Given the description of an element on the screen output the (x, y) to click on. 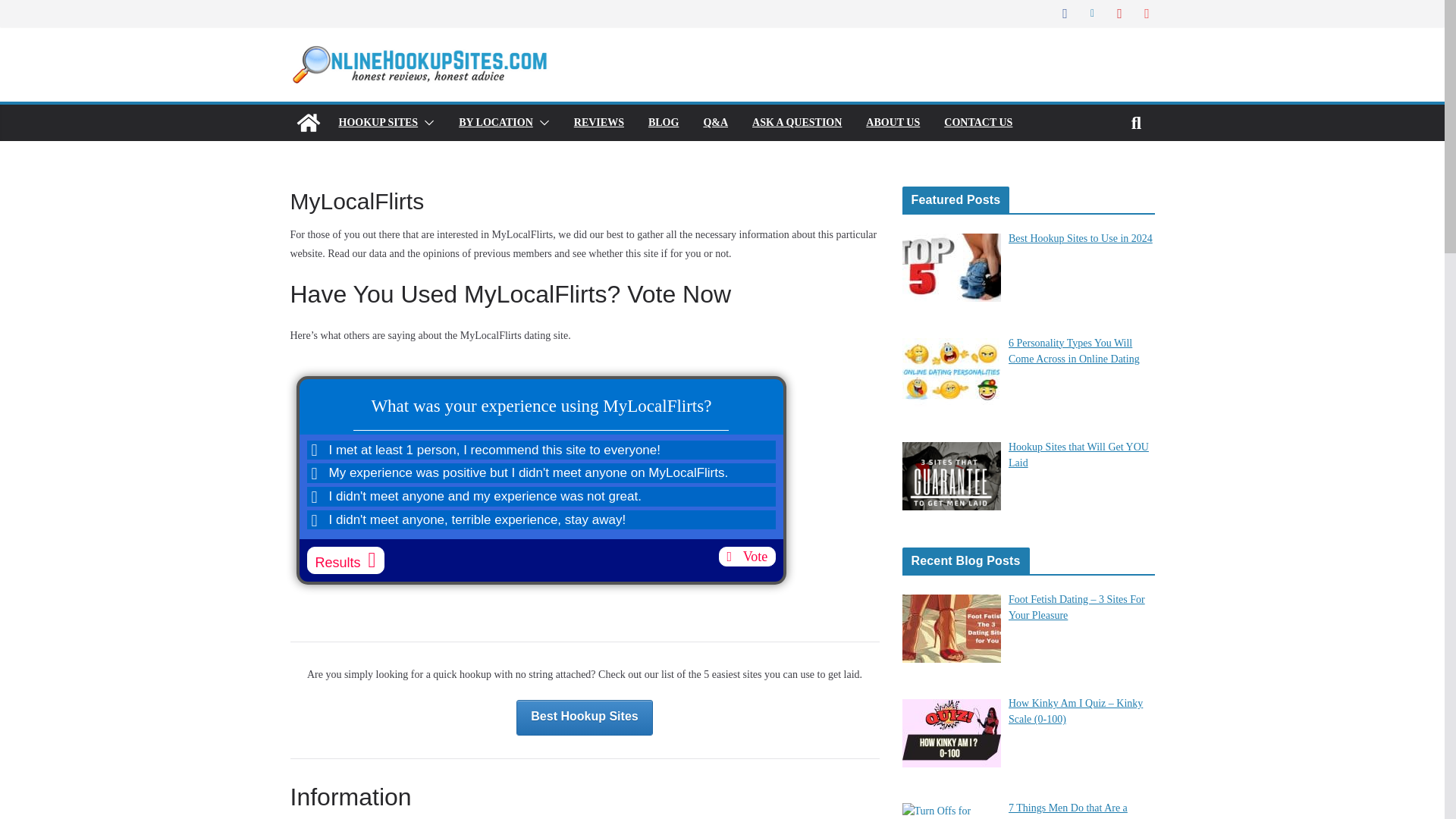
BY LOCATION (495, 122)
6 Personality Types You Will Come Across in Online Dating (1074, 349)
CONTACT US (977, 122)
Hookup Sites that Will Get YOU Laid (1078, 454)
ABOUT US (893, 122)
REVIEWS (598, 122)
BLOG (662, 122)
HOOKUP SITES (377, 122)
Results (344, 560)
Best Hookup Sites to Use in 2024 (1081, 238)
Best Hookup Sites (584, 717)
Best Hookup Sites (584, 717)
ASK A QUESTION (796, 122)
Vote (747, 556)
Online Hookup Sites (307, 122)
